Given the description of an element on the screen output the (x, y) to click on. 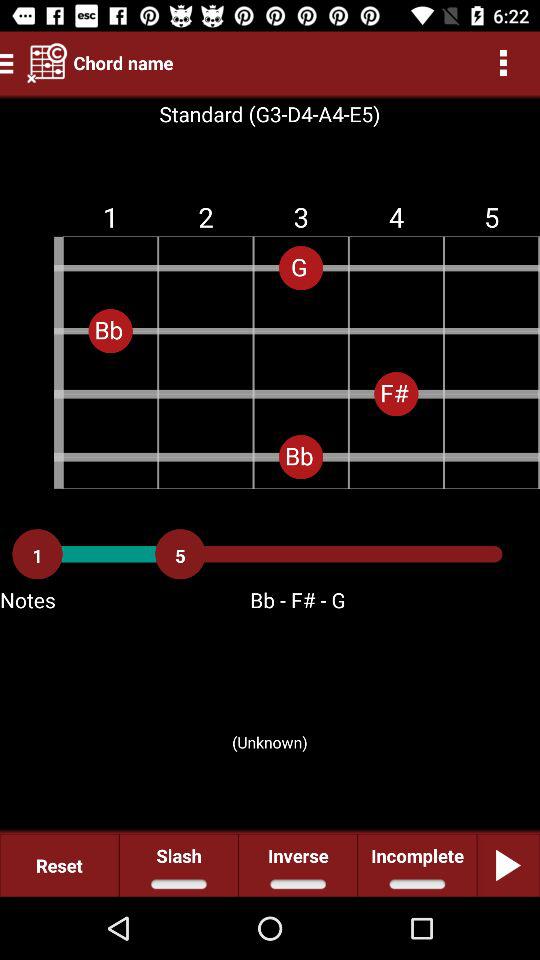
select icon next to incomplete item (297, 864)
